Given the description of an element on the screen output the (x, y) to click on. 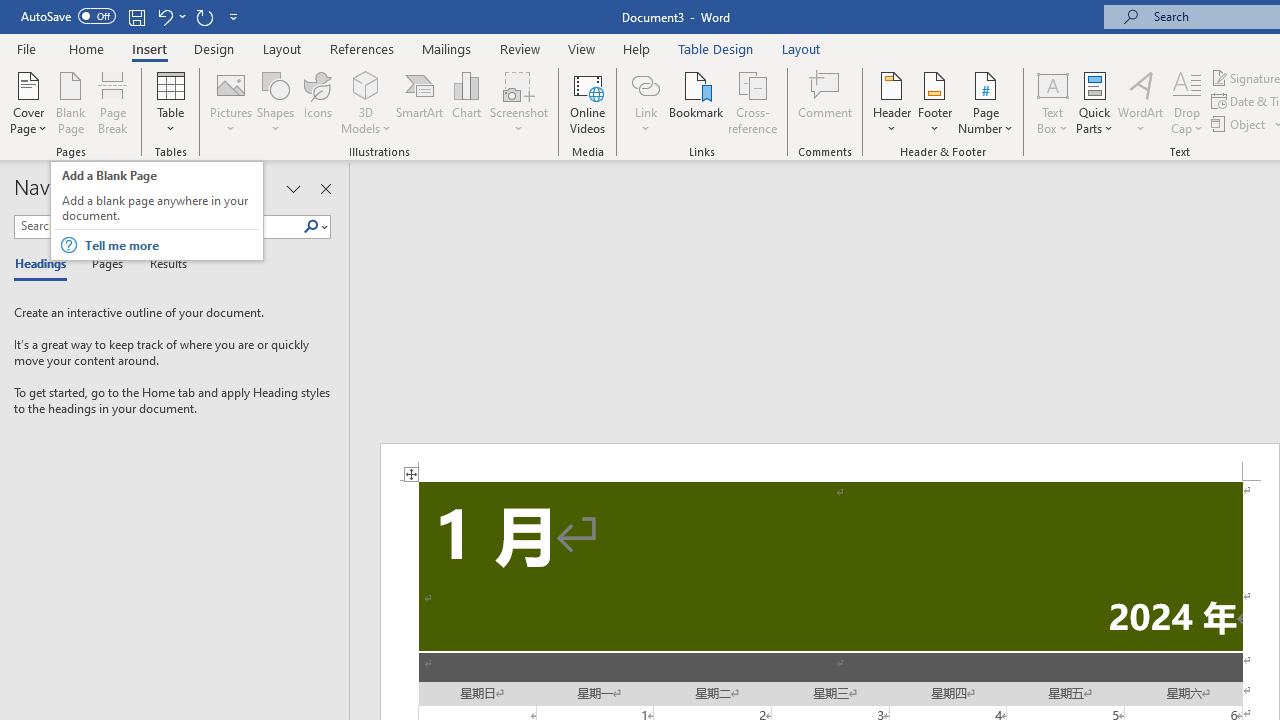
3D Models (366, 102)
Link (645, 84)
SmartArt... (419, 102)
WordArt (1141, 102)
Footer (934, 102)
